Given the description of an element on the screen output the (x, y) to click on. 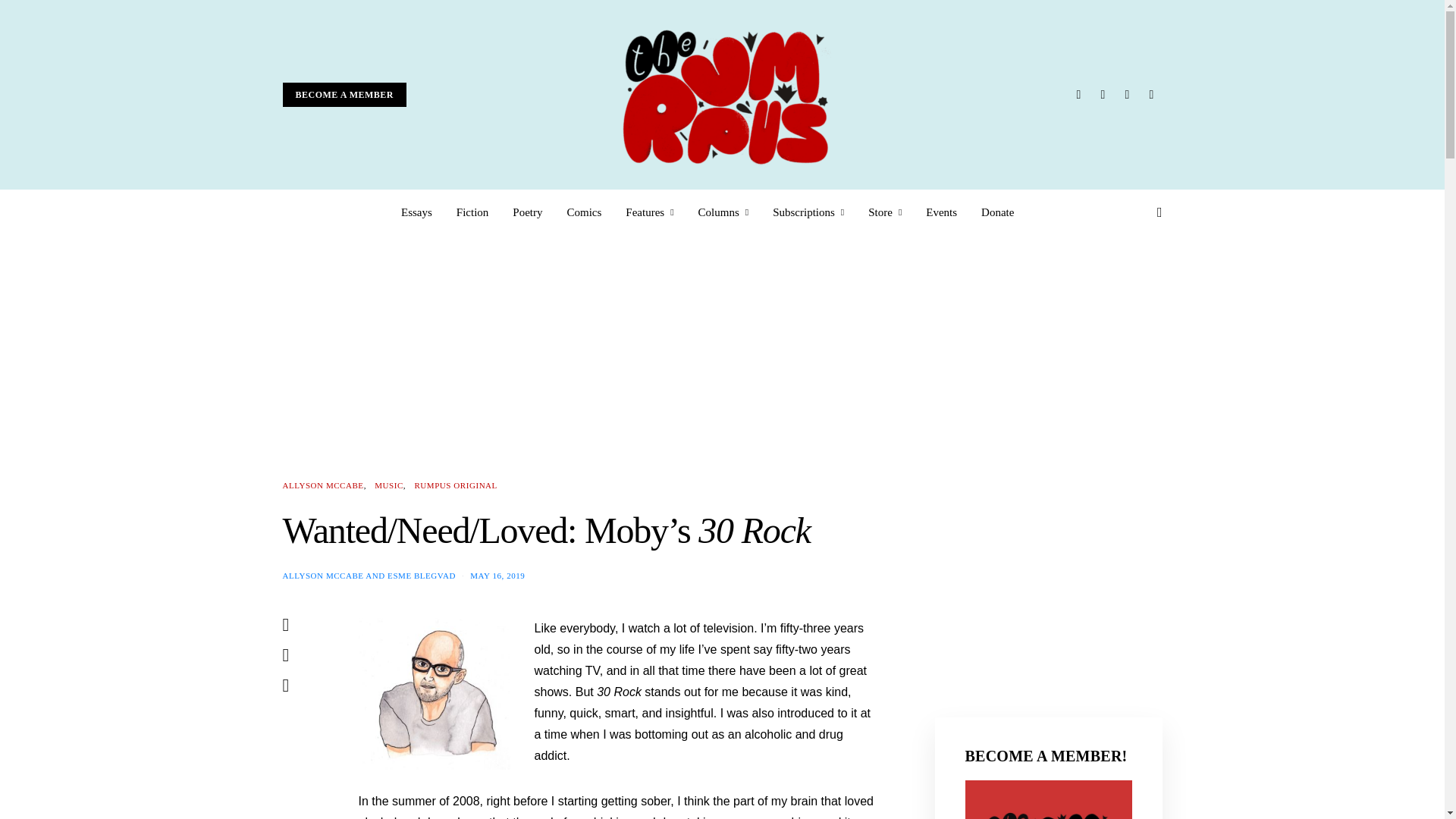
View all posts by Allyson McCabe and Esme Blegvad (368, 574)
3rd party ad content (1047, 574)
BECOME A MEMBER (344, 94)
